Given the description of an element on the screen output the (x, y) to click on. 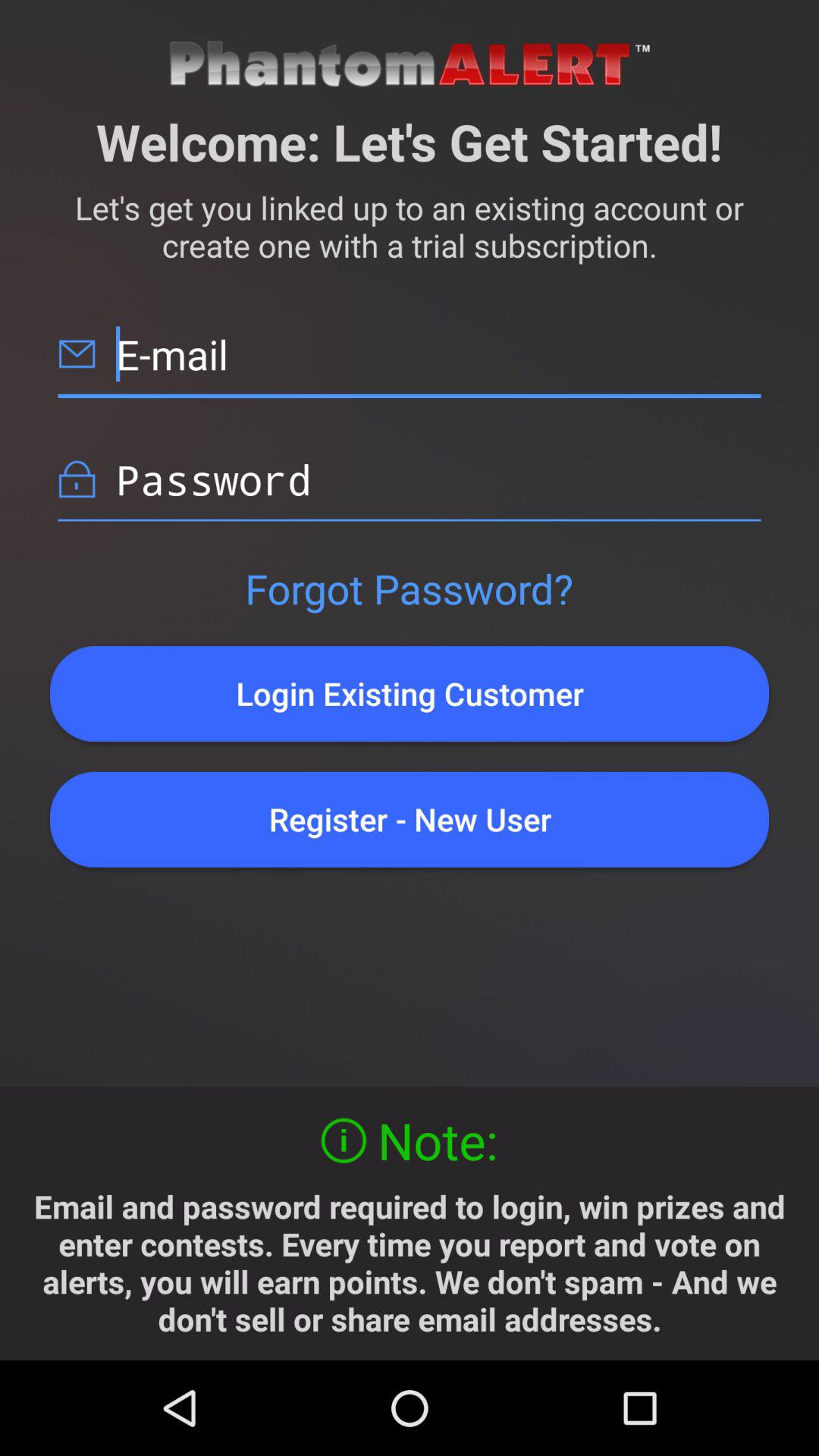
turn off the button above login existing customer button (409, 587)
